Given the description of an element on the screen output the (x, y) to click on. 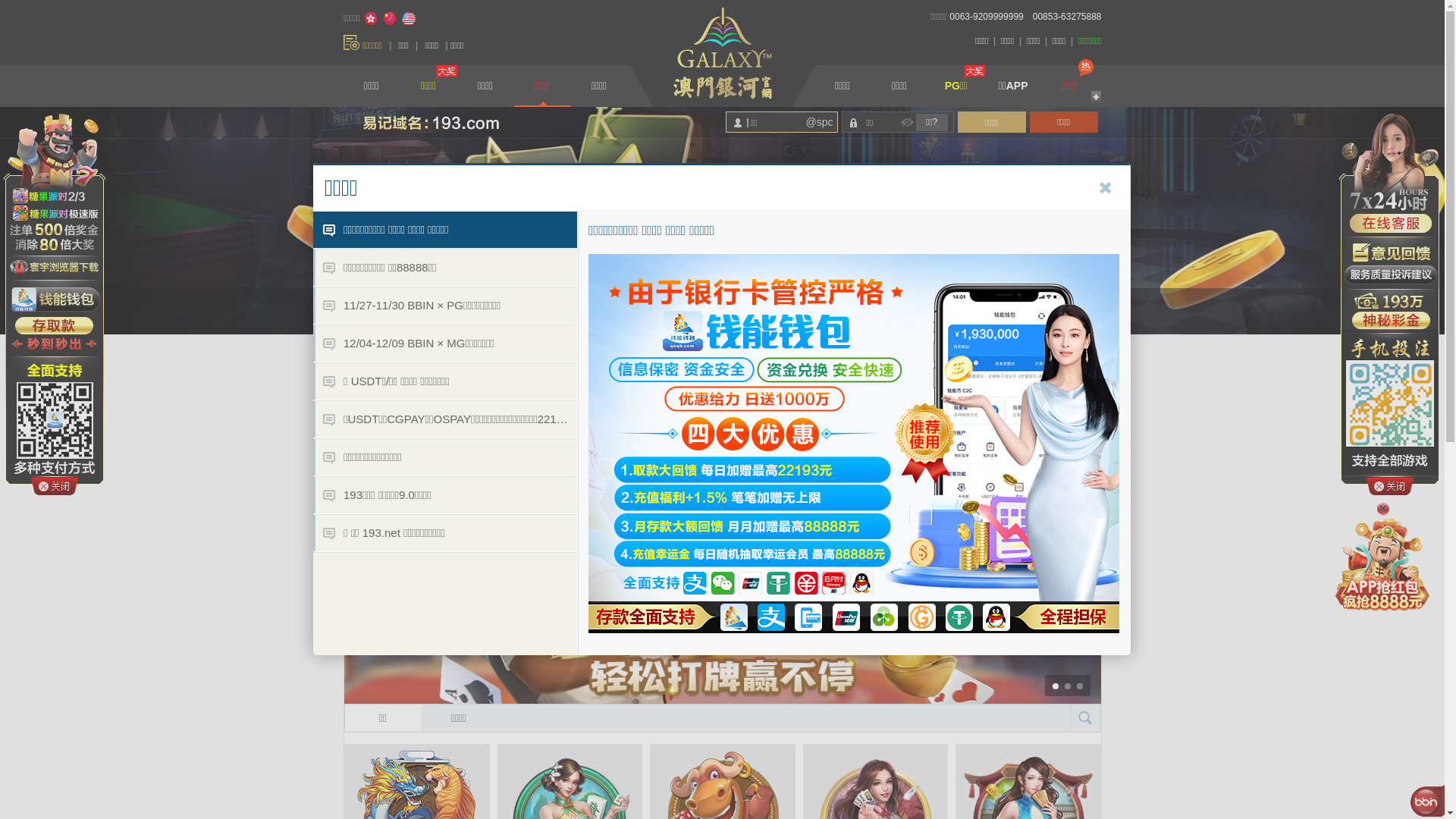
English Element type: hover (408, 18)
